Given the description of an element on the screen output the (x, y) to click on. 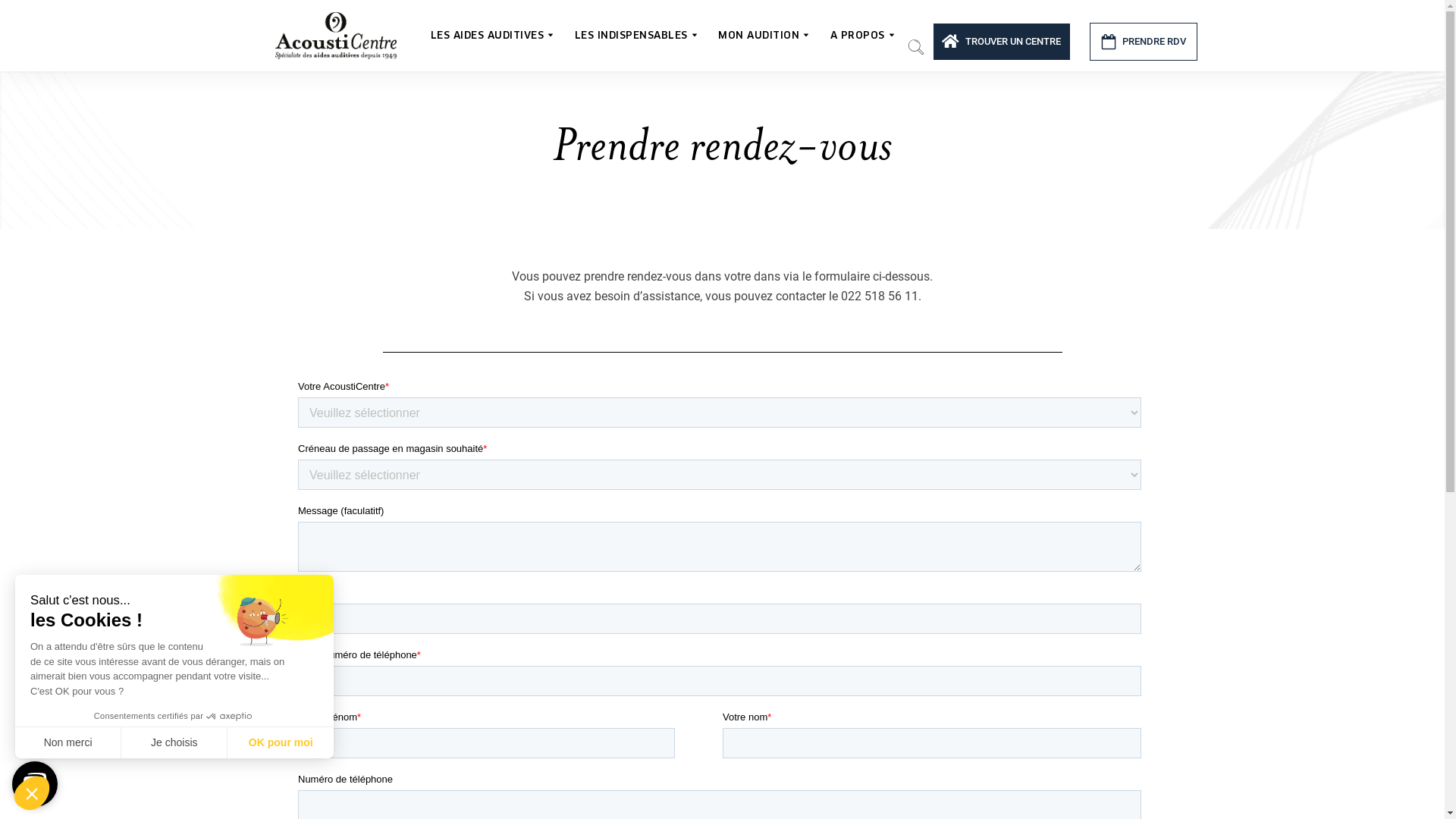
LES AIDES AUDITIVES Element type: text (490, 35)
LES INDISPENSABLES Element type: text (634, 35)
A PROPOS Element type: text (861, 35)
022 518 56 11 Element type: text (878, 295)
TROUVER UN CENTRE Element type: text (1001, 41)
PRENDRE RDV Element type: text (1143, 41)
Fermer le widget sans consentement Element type: hover (31, 793)
MON AUDITION Element type: text (762, 35)
